Given the description of an element on the screen output the (x, y) to click on. 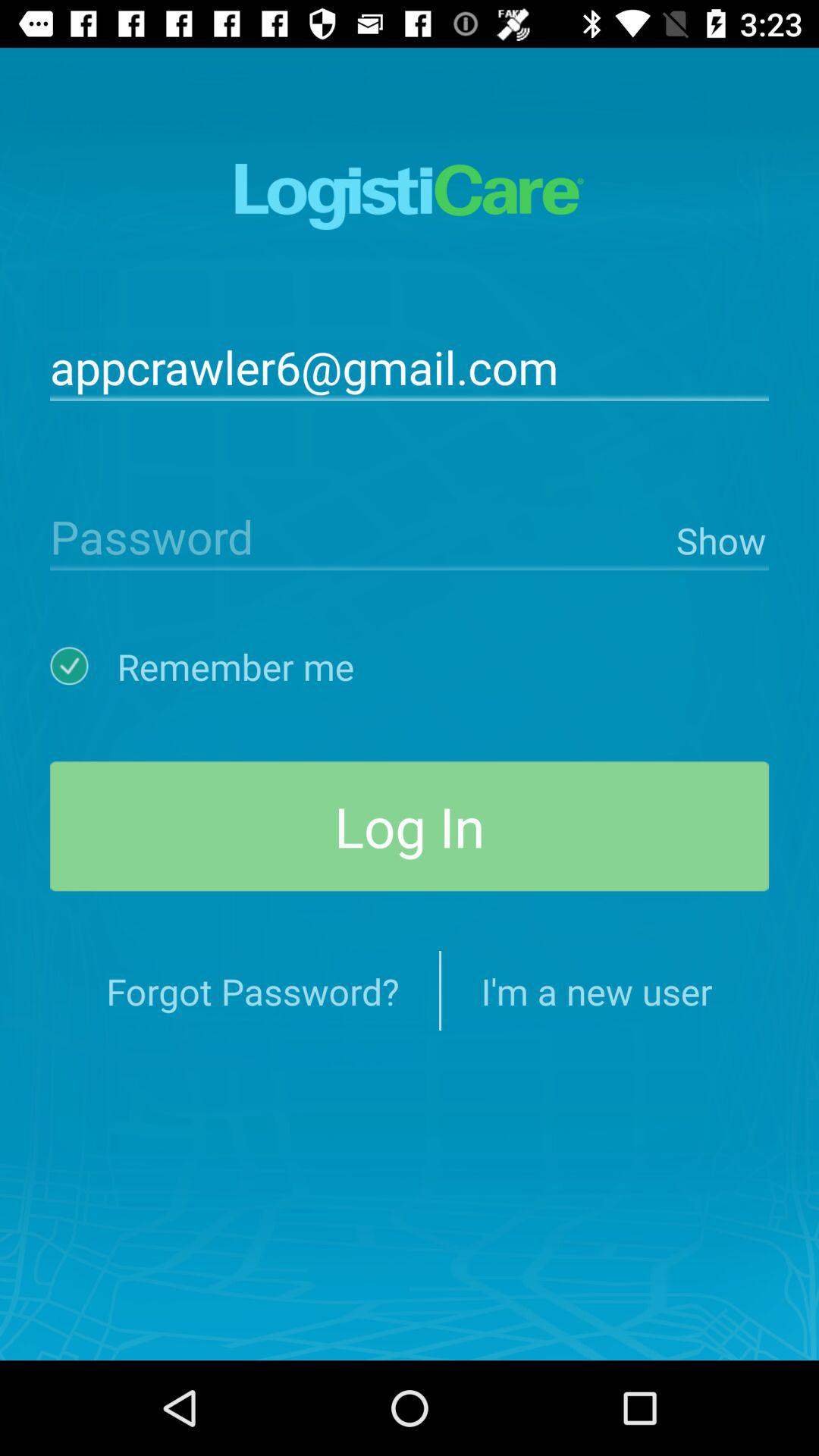
choose icon on the right (718, 536)
